Given the description of an element on the screen output the (x, y) to click on. 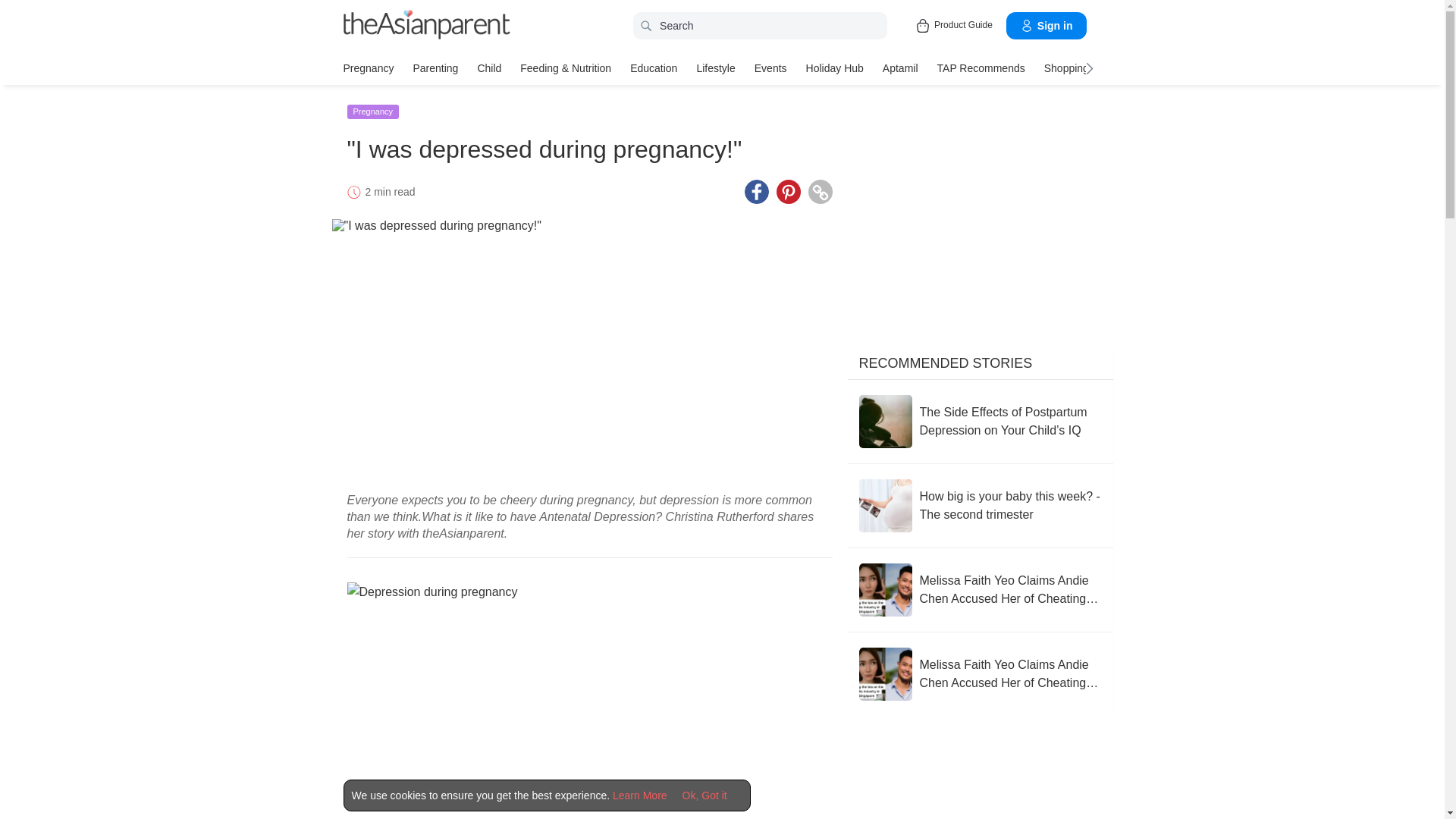
Child (488, 67)
Pregnancy (367, 67)
Education (653, 67)
Lifestyle (715, 67)
Pregnancy (367, 67)
Parenting (435, 67)
Child (488, 67)
logo (425, 25)
Sign in (1046, 25)
theAsianparent (425, 24)
